Given the description of an element on the screen output the (x, y) to click on. 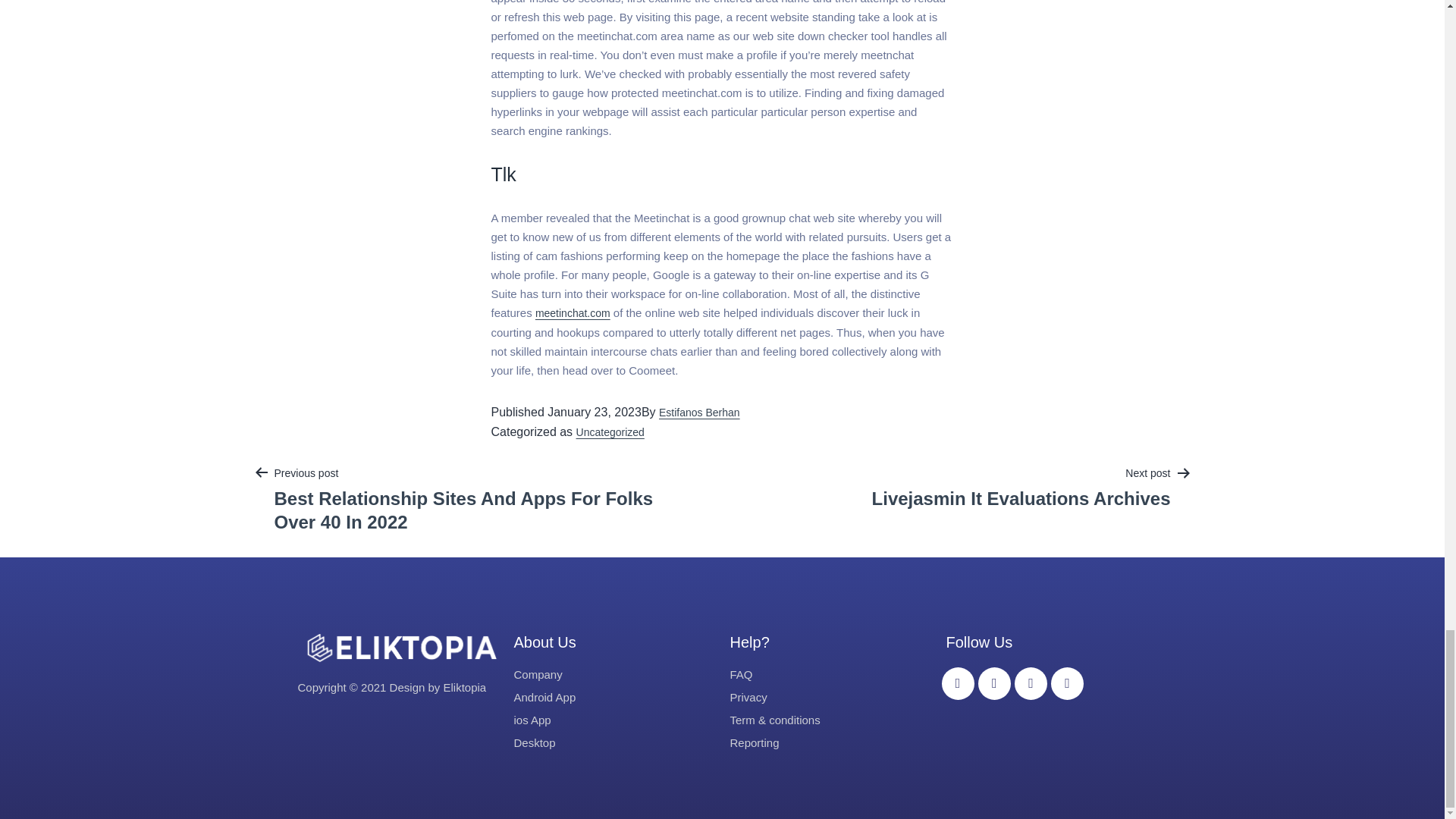
Estifanos Berhan (1021, 487)
meetinchat.com (699, 412)
Uncategorized (572, 313)
